Given the description of an element on the screen output the (x, y) to click on. 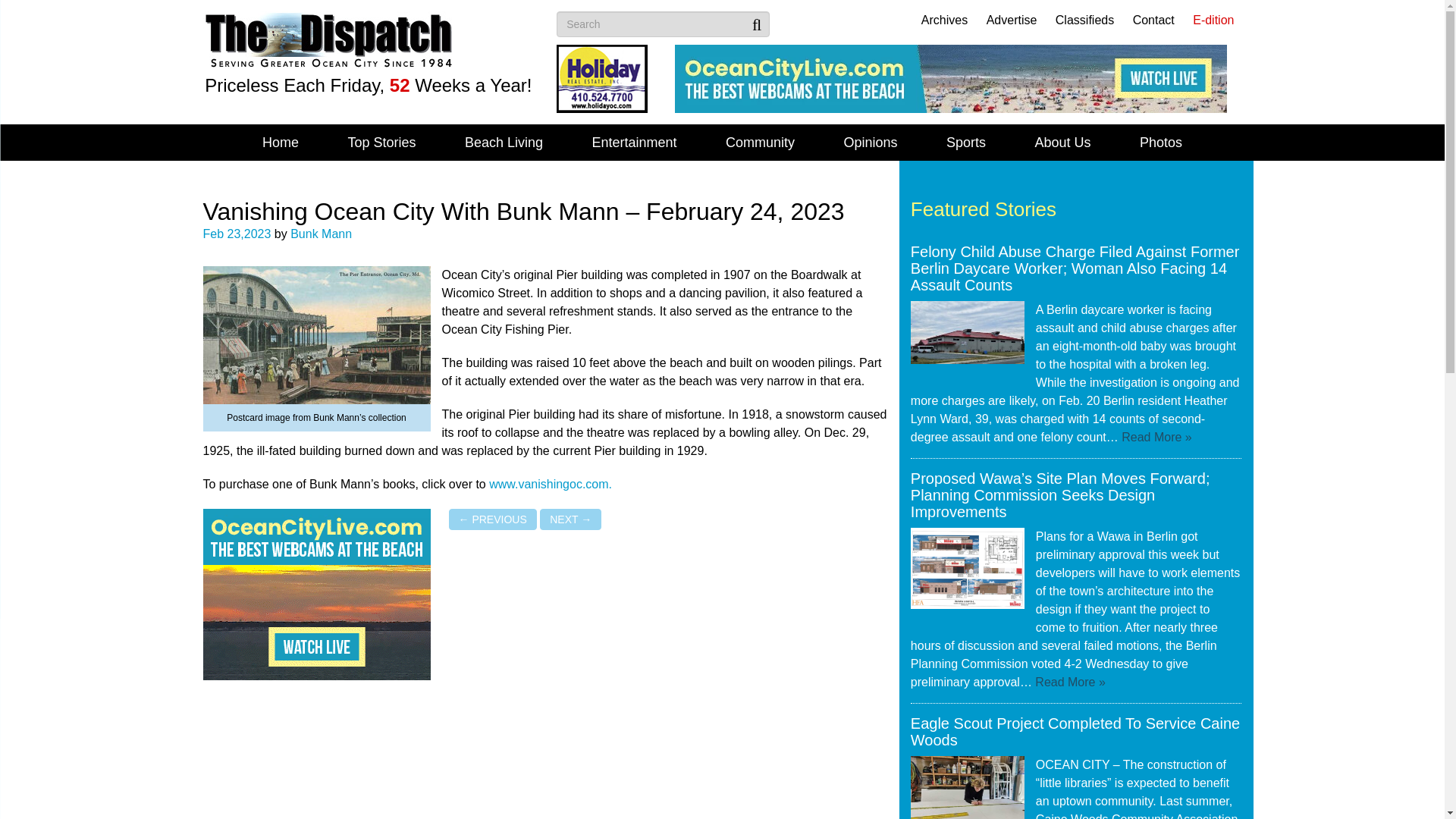
Archives (944, 20)
